Given the description of an element on the screen output the (x, y) to click on. 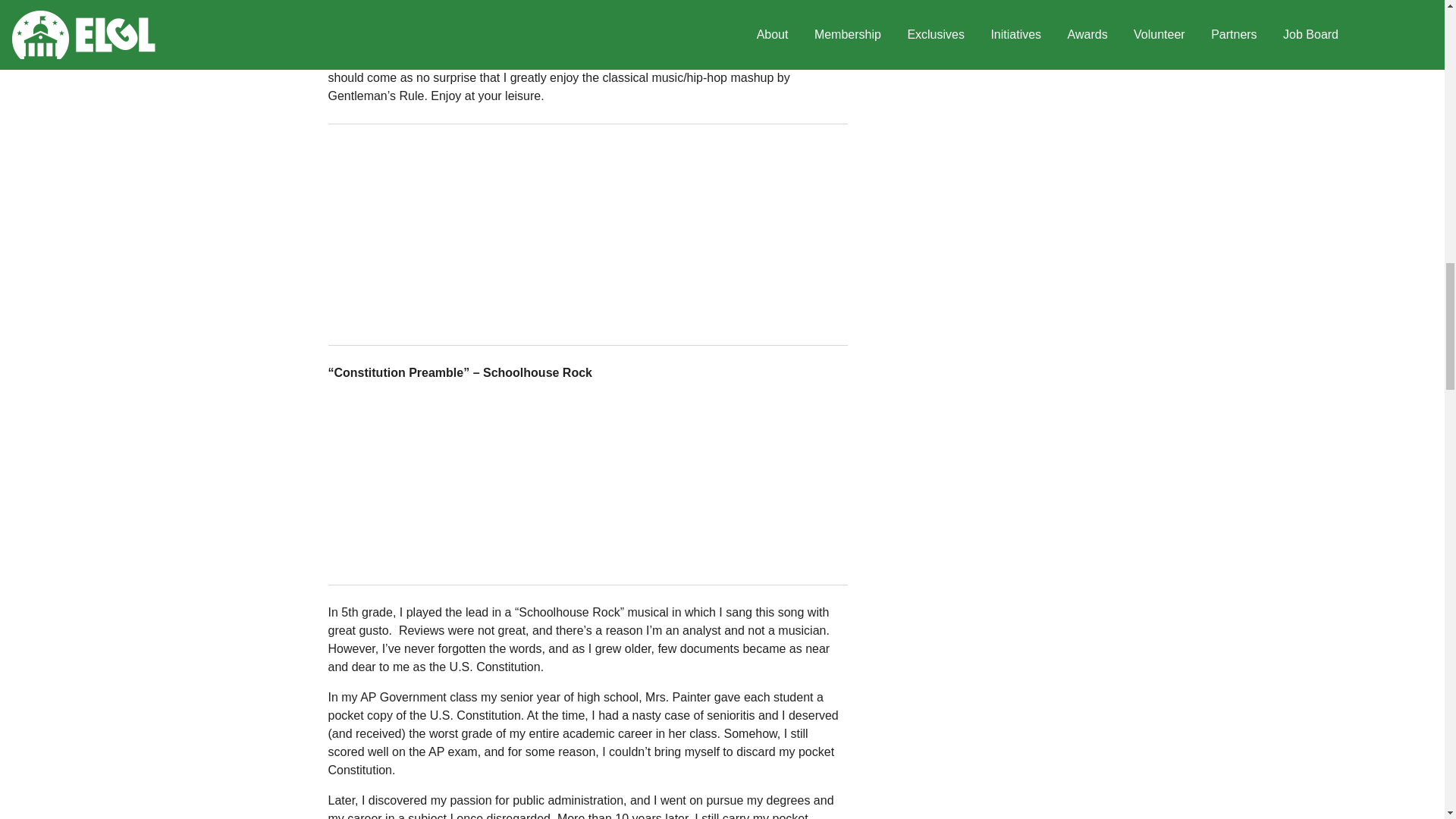
Forbes on this song regarding its treatment of money (585, 50)
